Given the description of an element on the screen output the (x, y) to click on. 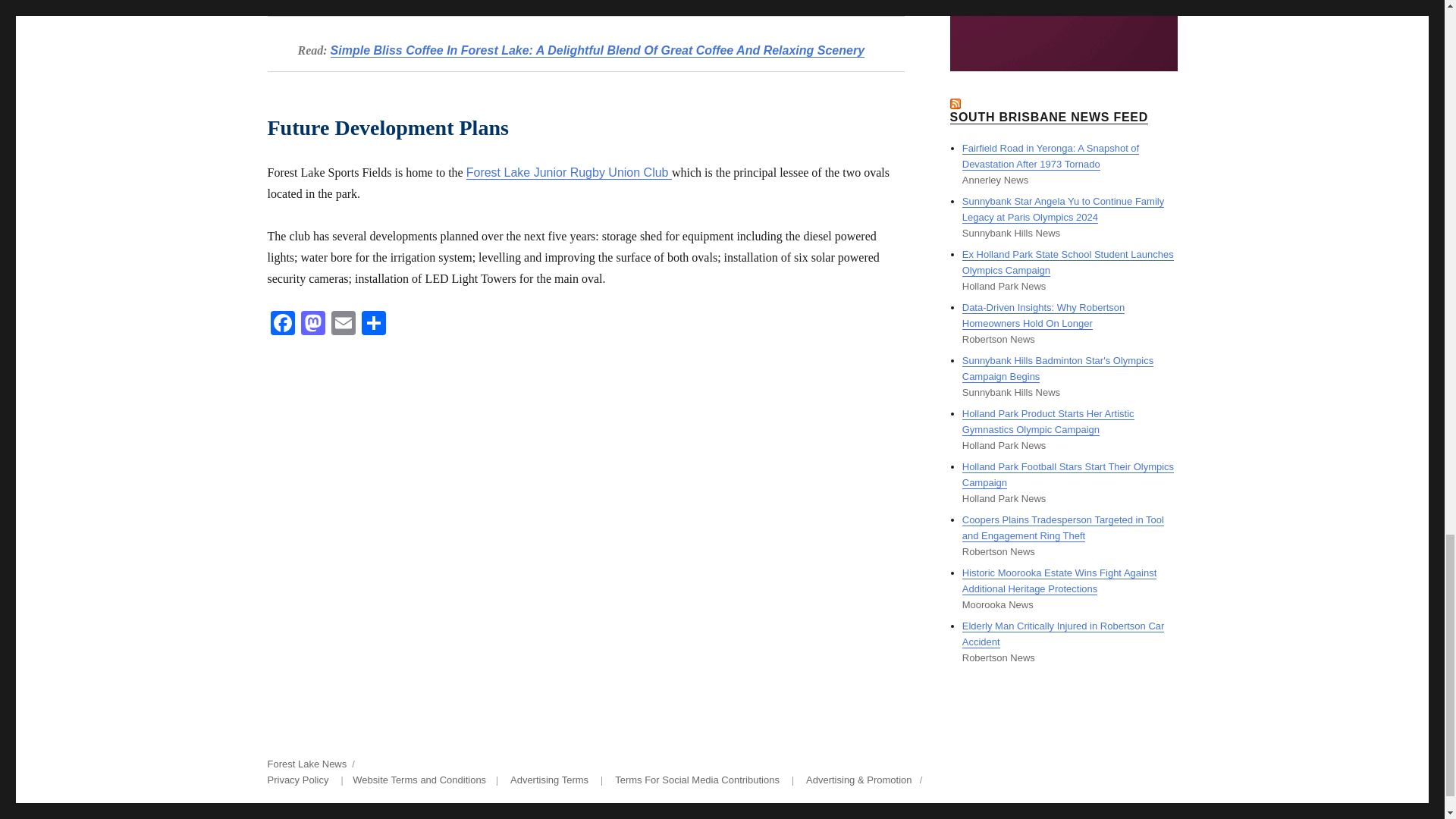
SOUTH BRISBANE NEWS FEED (1048, 116)
Mastodon (312, 325)
Sunnybank Hills Badminton Star's Olympics Campaign Begins (1057, 368)
Facebook (281, 325)
Holland Park Football Stars Start Their Olympics Campaign (1067, 474)
Forest Lake Junior Rugby Union Club (568, 172)
Email (342, 325)
Email (342, 325)
